Given the description of an element on the screen output the (x, y) to click on. 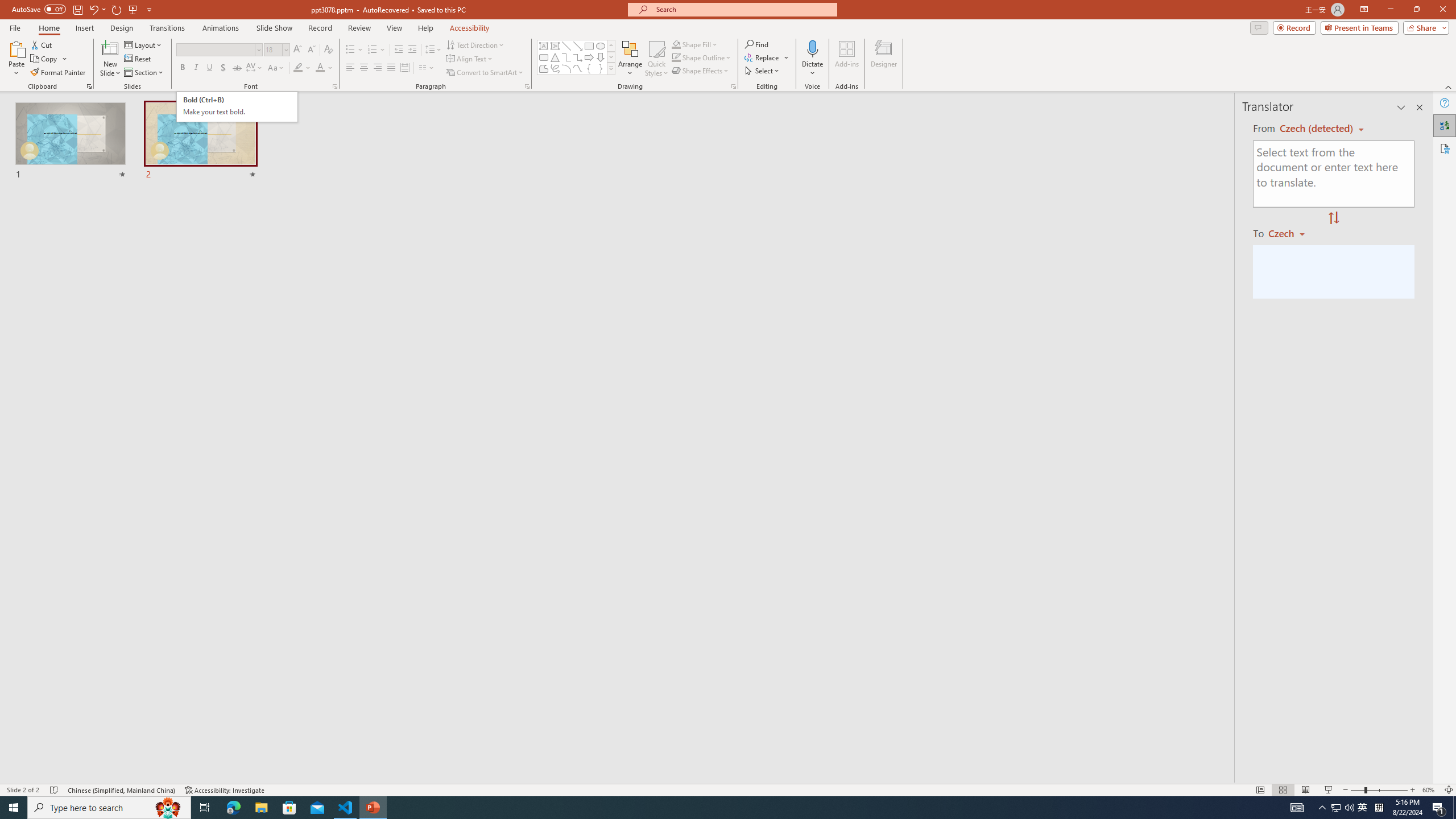
Format Painter (58, 72)
Zoom 60% (1430, 790)
Connector: Elbow (566, 57)
Arrange (630, 58)
